Given the description of an element on the screen output the (x, y) to click on. 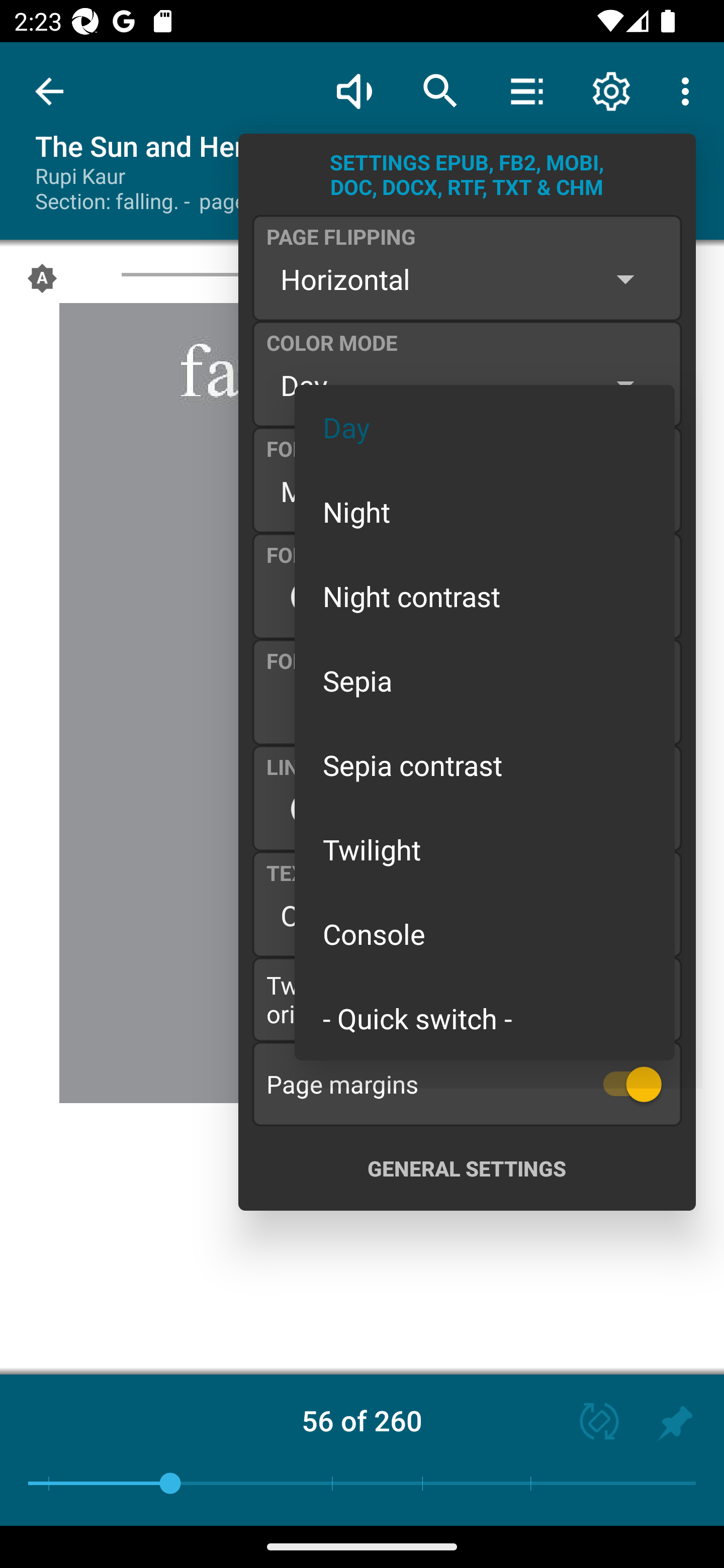
Day (484, 426)
Night (484, 510)
Night contrast (484, 595)
Sepia (484, 680)
Sepia contrast (484, 764)
Twilight (484, 849)
Console (484, 933)
- Quick switch - (484, 1017)
